Given the description of an element on the screen output the (x, y) to click on. 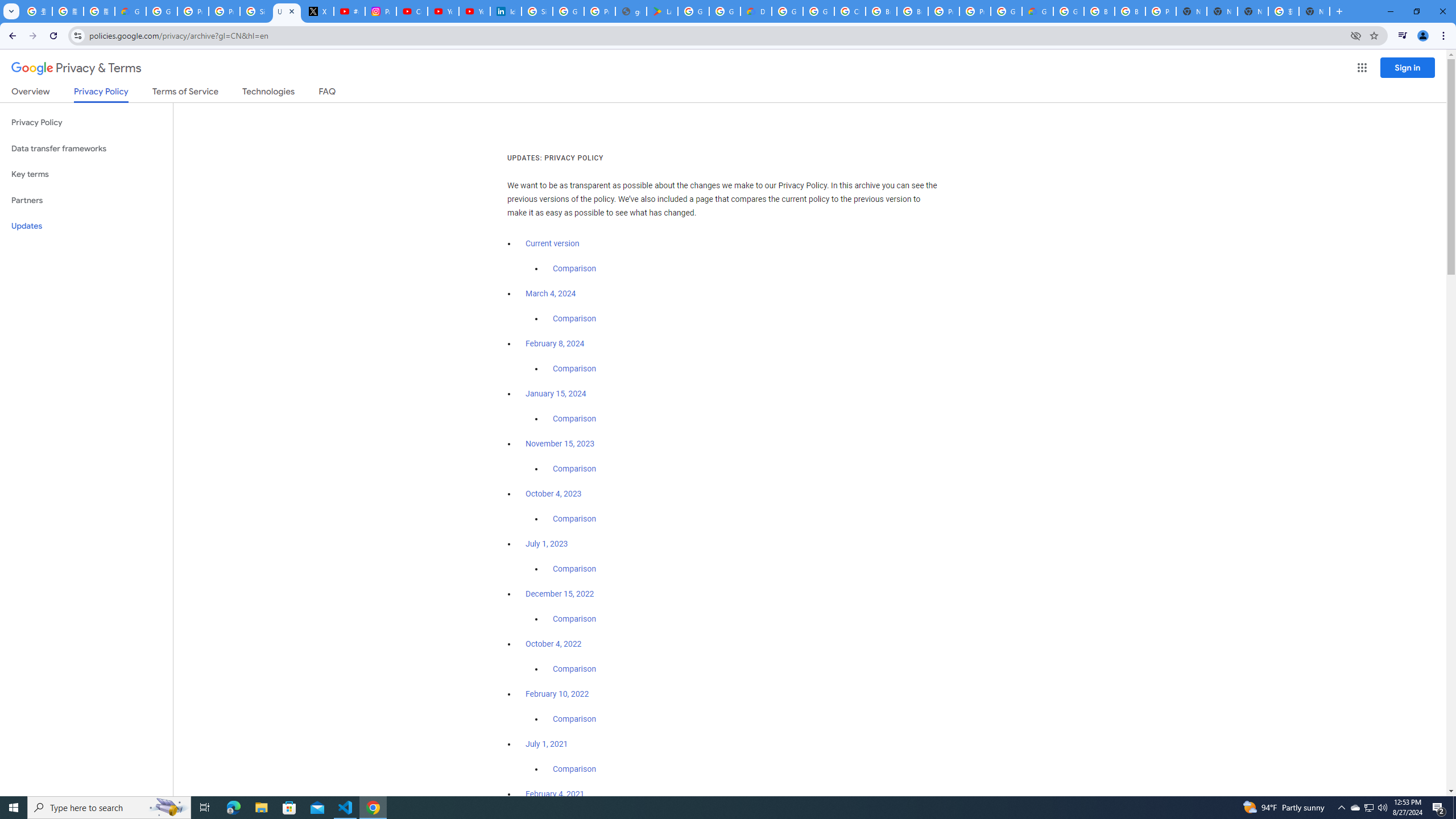
Sign in - Google Accounts (255, 11)
X (318, 11)
Google Cloud Privacy Notice (130, 11)
